Given the description of an element on the screen output the (x, y) to click on. 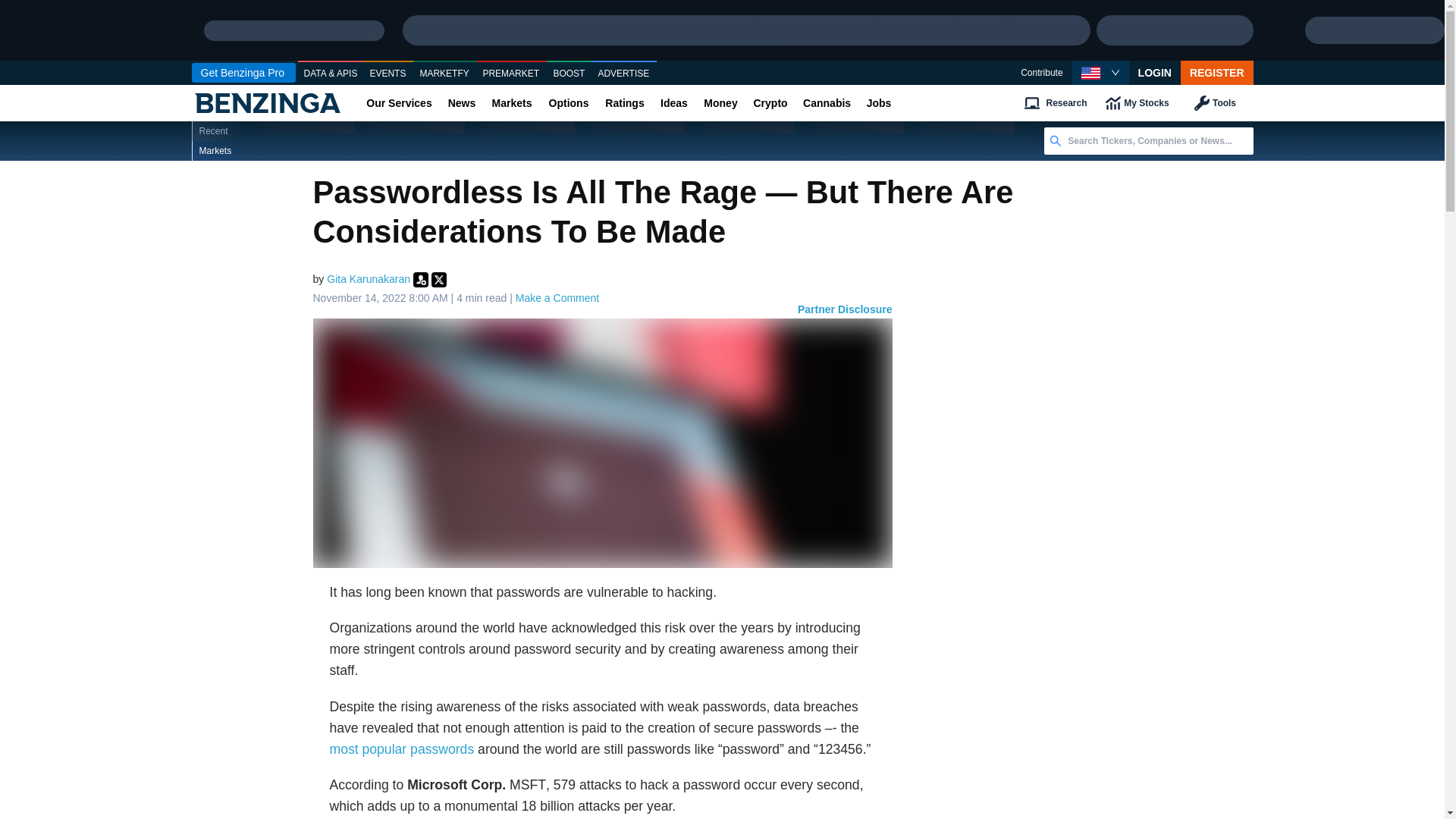
BOOST (569, 73)
Get Benzinga Pro (242, 72)
PREMARKET (511, 73)
USA (1090, 72)
Contribute (1041, 72)
Our Services (398, 103)
Our Services (398, 103)
LOGIN (1154, 72)
EVENTS (387, 73)
REGISTER (1216, 72)
